Given the description of an element on the screen output the (x, y) to click on. 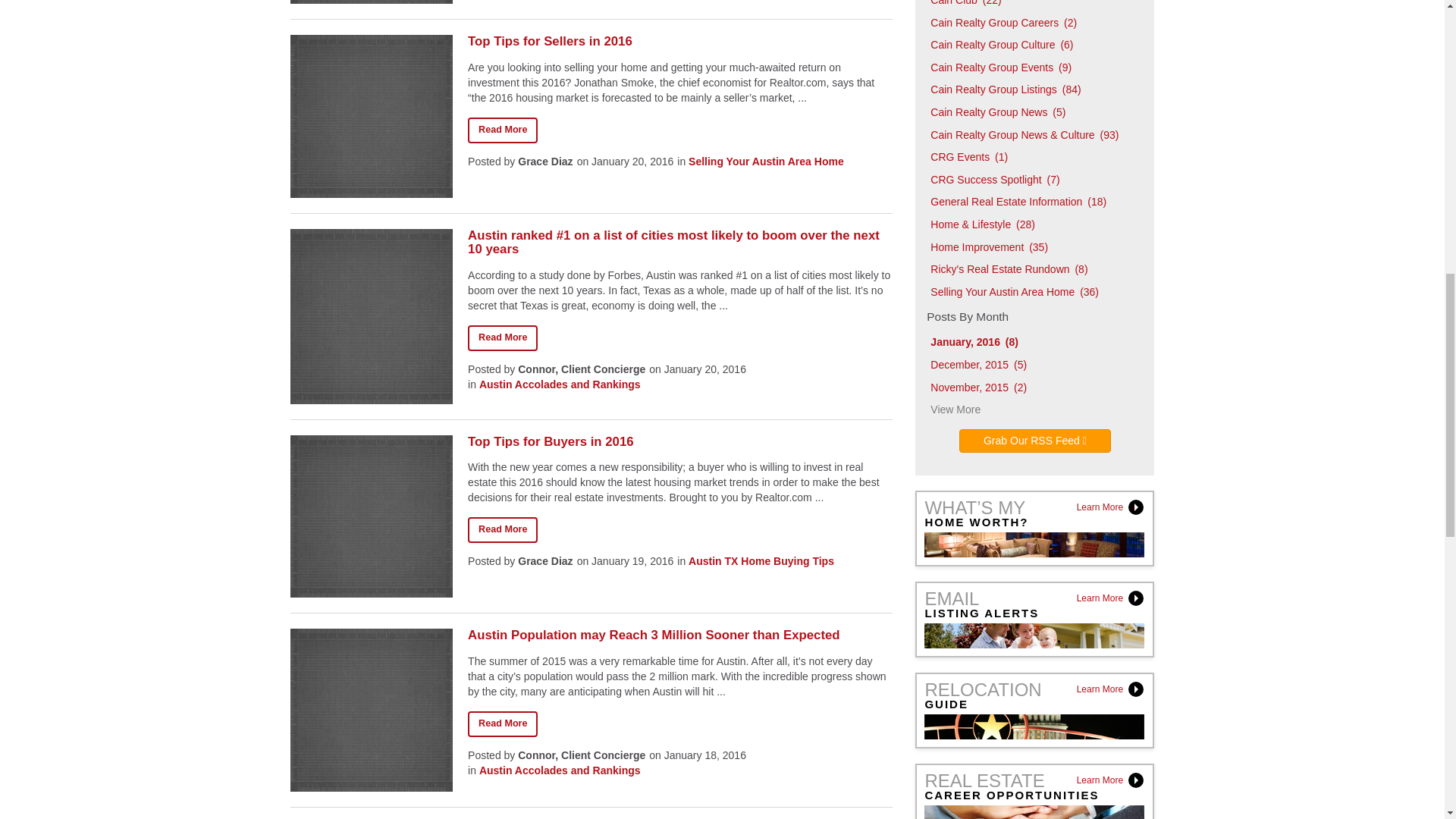
Top Tips for Sellers in 2016 (502, 130)
Austin Population may Reach 3 Million Sooner than Expected (502, 724)
Austin Population may Reach 3 Million Sooner than Expected (679, 635)
Top Tips for Buyers in 2016 (502, 529)
Top Tips for Sellers in 2016 (679, 41)
Top Tips for Buyers in 2016 (679, 441)
